Given the description of an element on the screen output the (x, y) to click on. 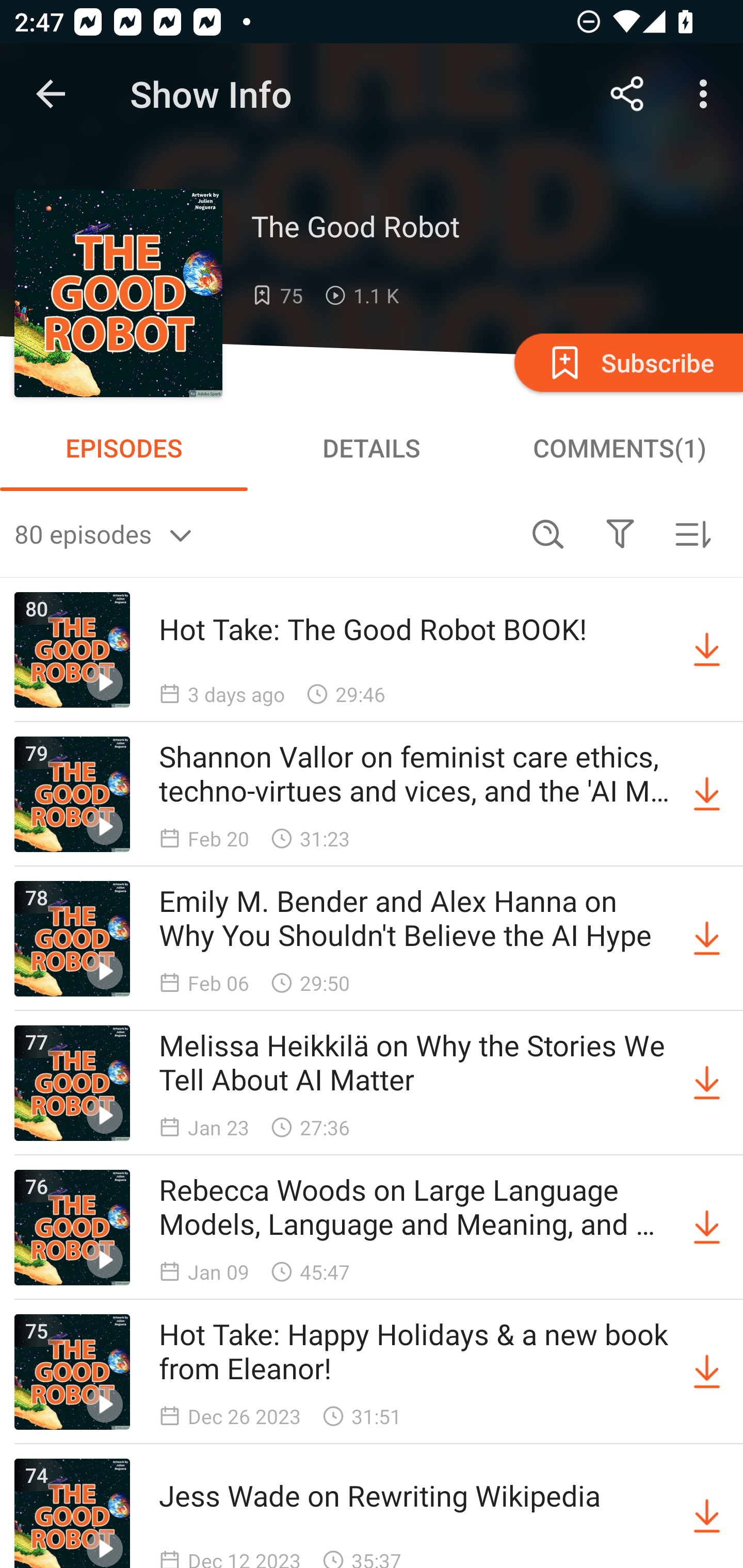
Navigate up (50, 93)
Share (626, 93)
More options (706, 93)
Subscribe (627, 361)
EPISODES (123, 447)
DETAILS (371, 447)
COMMENTS(1) (619, 447)
80 episodes  (262, 533)
 Search (547, 533)
 (619, 533)
 Sorted by newest first (692, 533)
Download (706, 649)
Download (706, 793)
Download (706, 939)
Download (706, 1083)
Download (706, 1227)
Download (706, 1371)
Download (706, 1513)
